Given the description of an element on the screen output the (x, y) to click on. 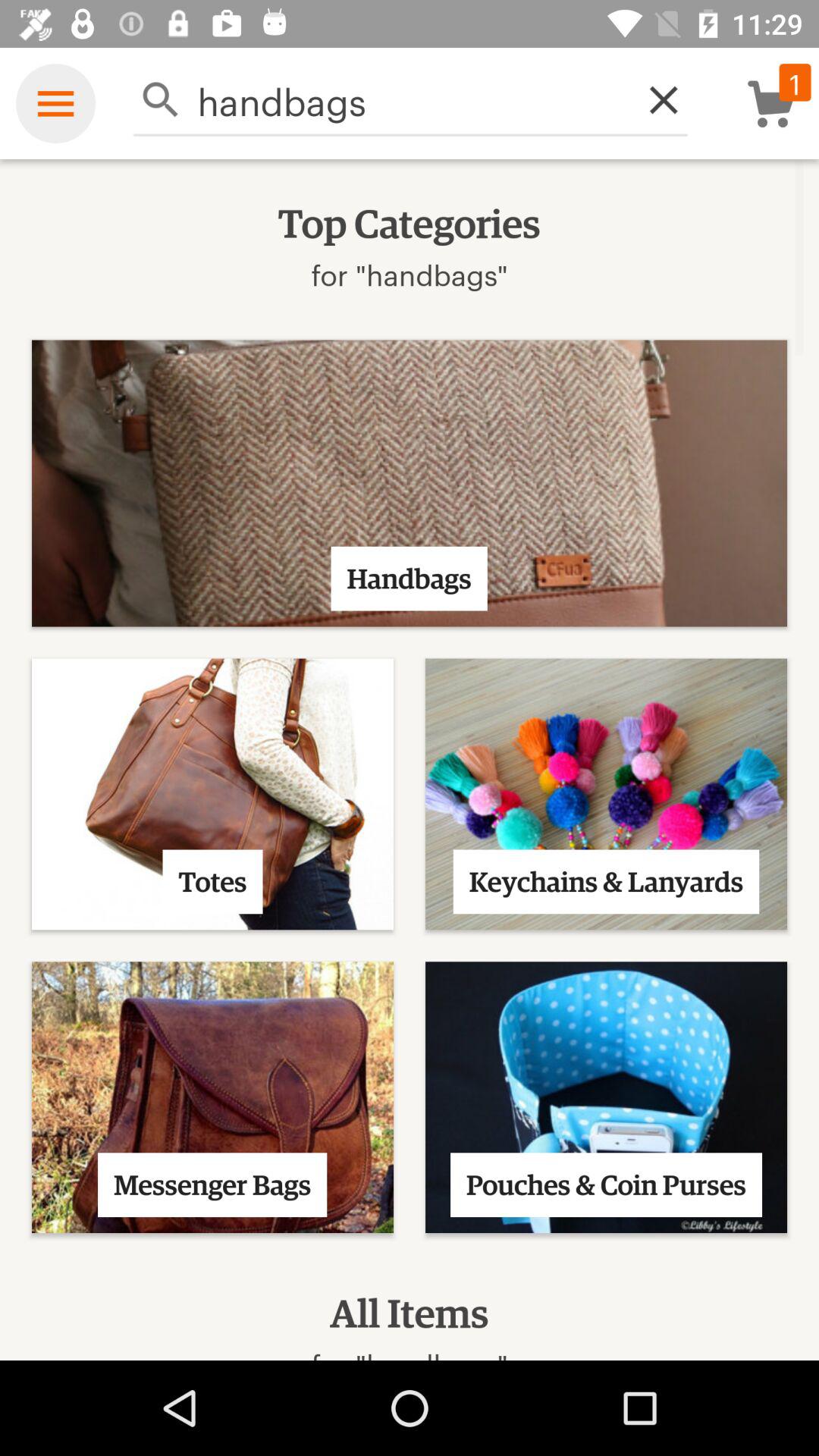
press the item to the right of the handbags (655, 99)
